Given the description of an element on the screen output the (x, y) to click on. 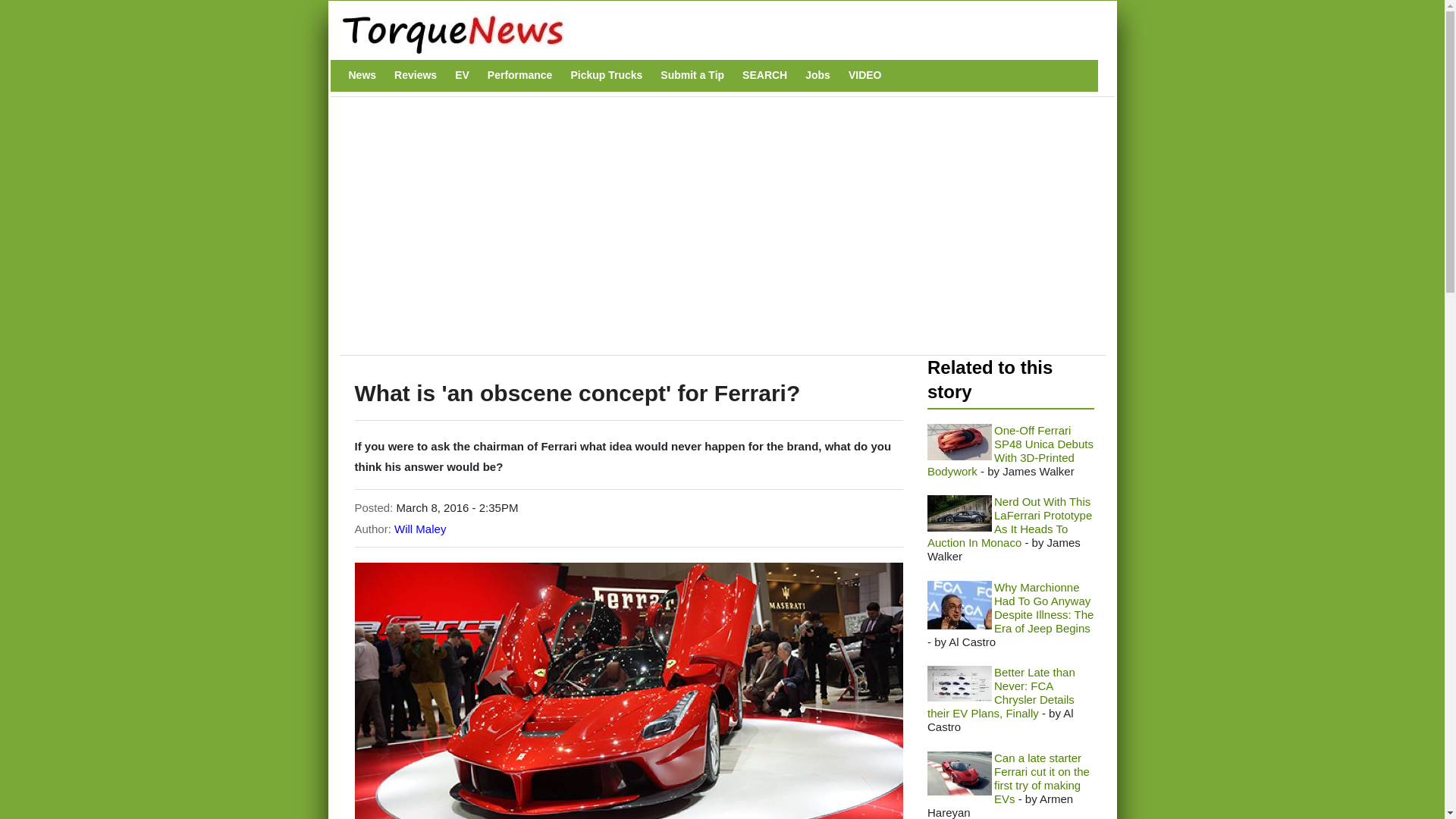
Submit a Tip (691, 75)
News (362, 75)
Will Maley (419, 528)
Reviews (415, 75)
Pickup Trucks (605, 75)
Home (713, 32)
VIDEO (865, 75)
Advertisement (624, 233)
Automotive journalism jobs and careers are TorqueNews.com. (817, 75)
Ferrari SP48 Unica (959, 442)
News (362, 75)
View user profile. (419, 528)
SEARCH (764, 75)
Performance (520, 75)
